Given the description of an element on the screen output the (x, y) to click on. 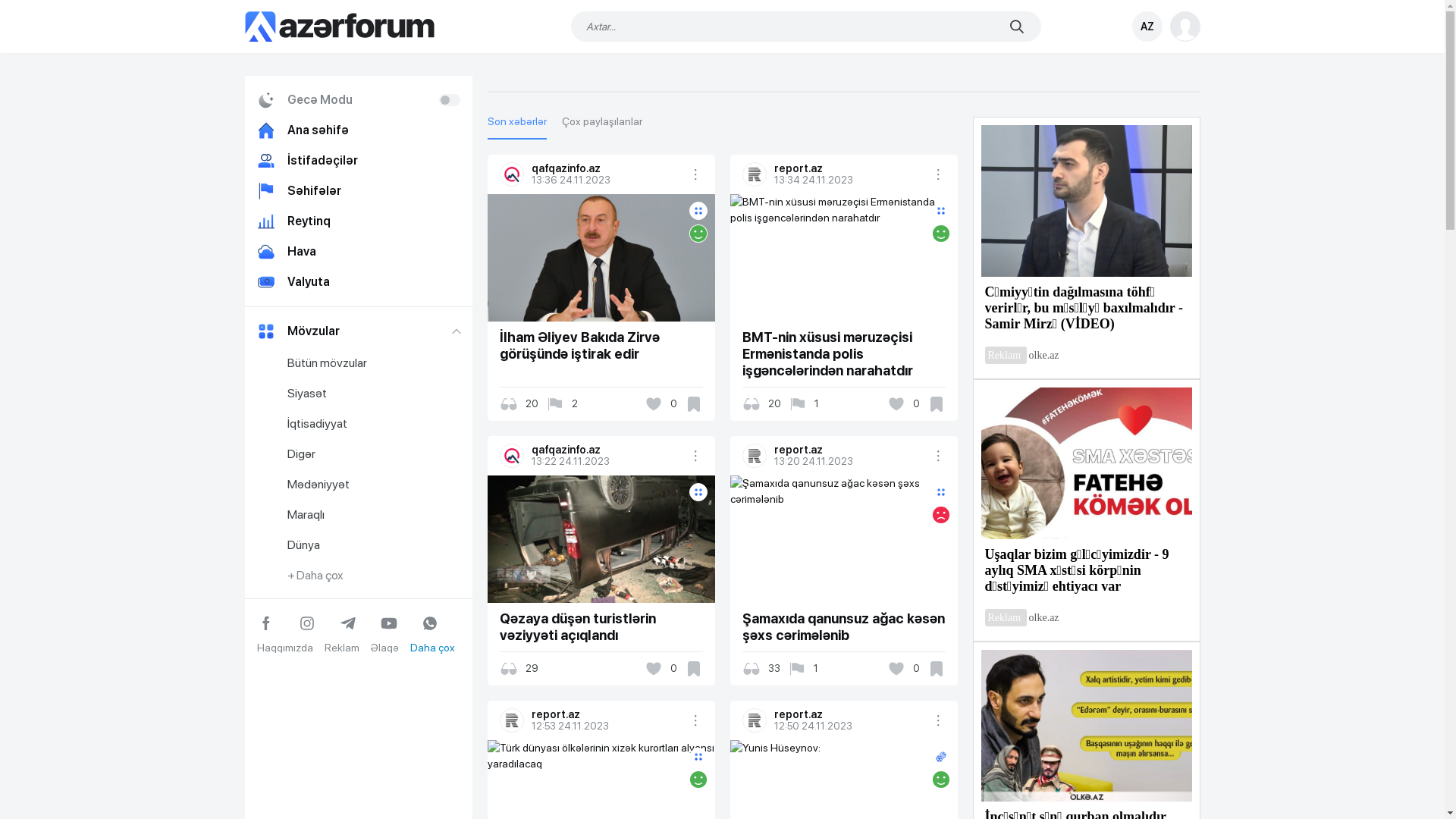
qafqazinfo.az Element type: text (607, 449)
report.az Element type: text (849, 714)
Reytinq Element type: text (357, 221)
Valyuta Element type: text (357, 282)
Reklam Element type: text (341, 647)
qafqazinfo.az Element type: text (607, 168)
positive Element type: hover (697, 233)
report.az Element type: text (849, 449)
report.az Element type: hover (754, 455)
report.az Element type: hover (511, 720)
report.az Element type: hover (754, 720)
report.az Element type: text (607, 714)
report.az Element type: text (849, 168)
qafqazinfo.az Element type: hover (511, 455)
qafqazinfo.az Element type: hover (511, 174)
positive Element type: hover (697, 779)
Hava Element type: text (357, 251)
report.az Element type: hover (754, 174)
negative Element type: hover (940, 514)
positive Element type: hover (940, 233)
positive Element type: hover (940, 779)
